Given the description of an element on the screen output the (x, y) to click on. 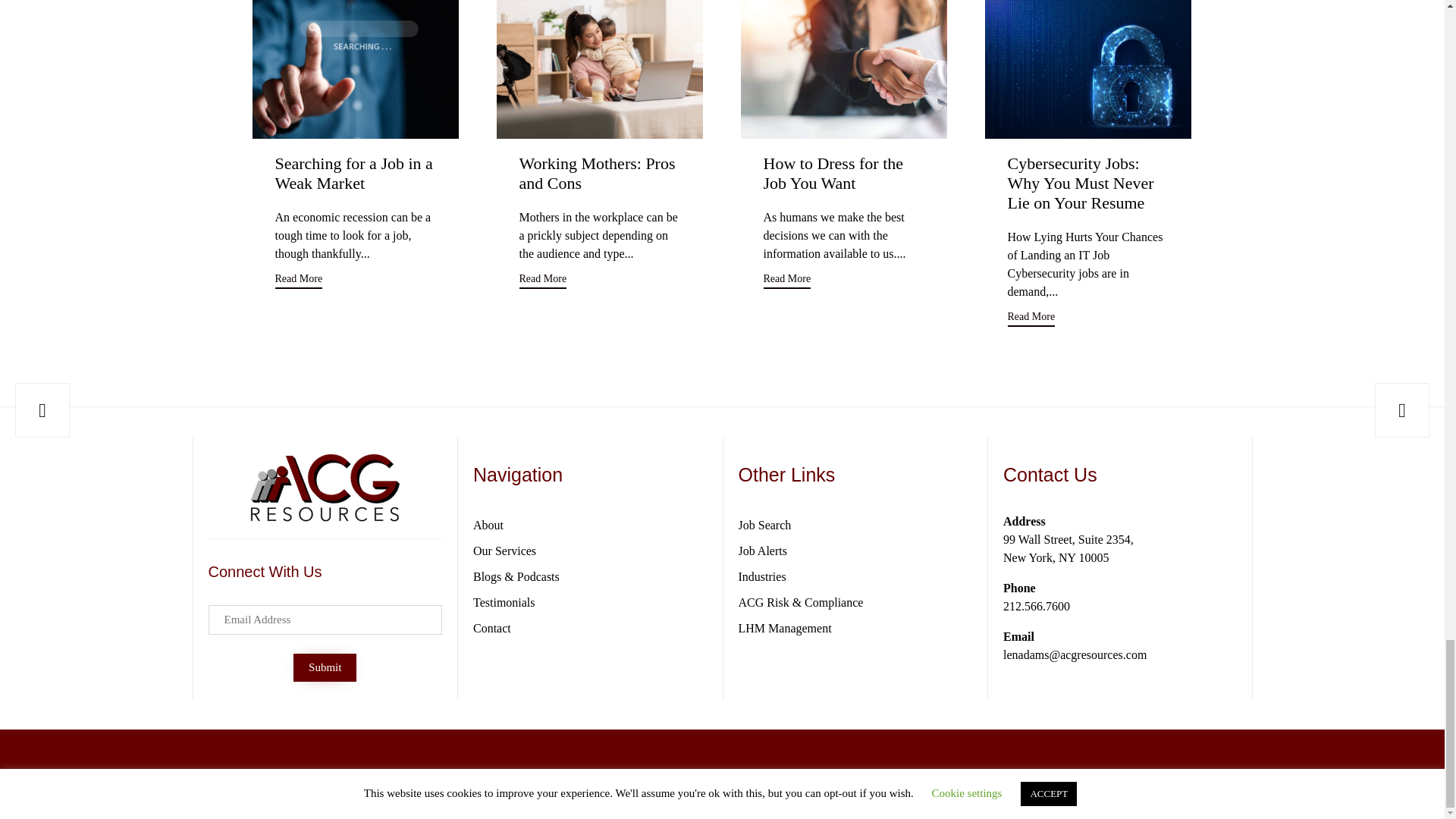
Cybersecurity Jobs: Why You Must Never Lie on Your Resume (1080, 182)
Working Mothers: Pros and Cons (598, 69)
Searching for a Job in a Weak Market (354, 69)
How to Dress for the Job You Want (832, 173)
Searching for a Job in a Weak Market (353, 173)
How to Dress for the Job You Want (842, 69)
Cybersecurity Jobs: Why You Must Never Lie on Your Resume (1087, 69)
Working Mothers: Pros and Cons (596, 173)
